Given the description of an element on the screen output the (x, y) to click on. 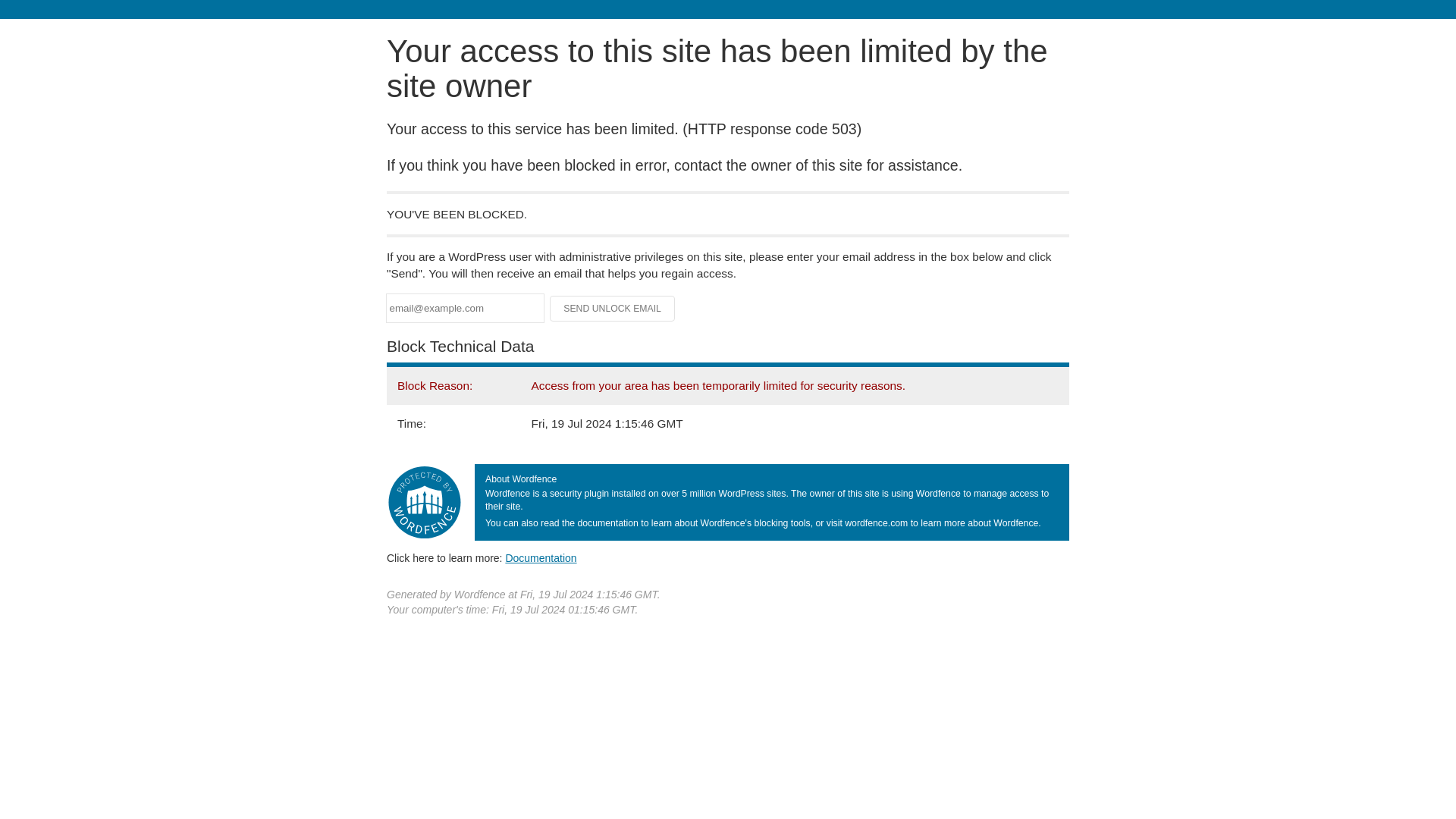
Documentation (540, 558)
Send Unlock Email (612, 308)
Send Unlock Email (612, 308)
